Given the description of an element on the screen output the (x, y) to click on. 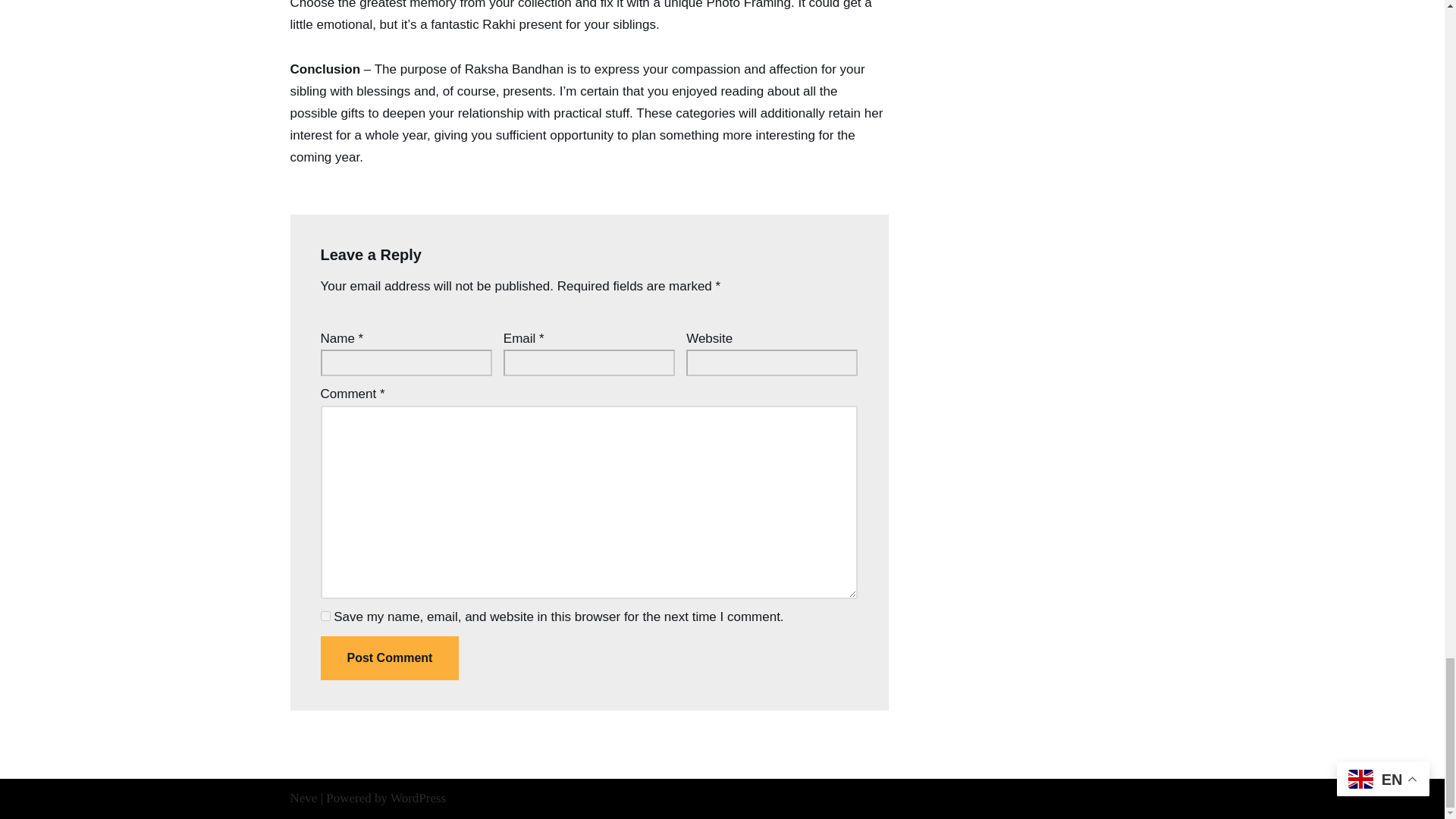
Neve (303, 798)
yes (325, 615)
WordPress (417, 798)
Post Comment (389, 658)
Post Comment (389, 658)
